Given the description of an element on the screen output the (x, y) to click on. 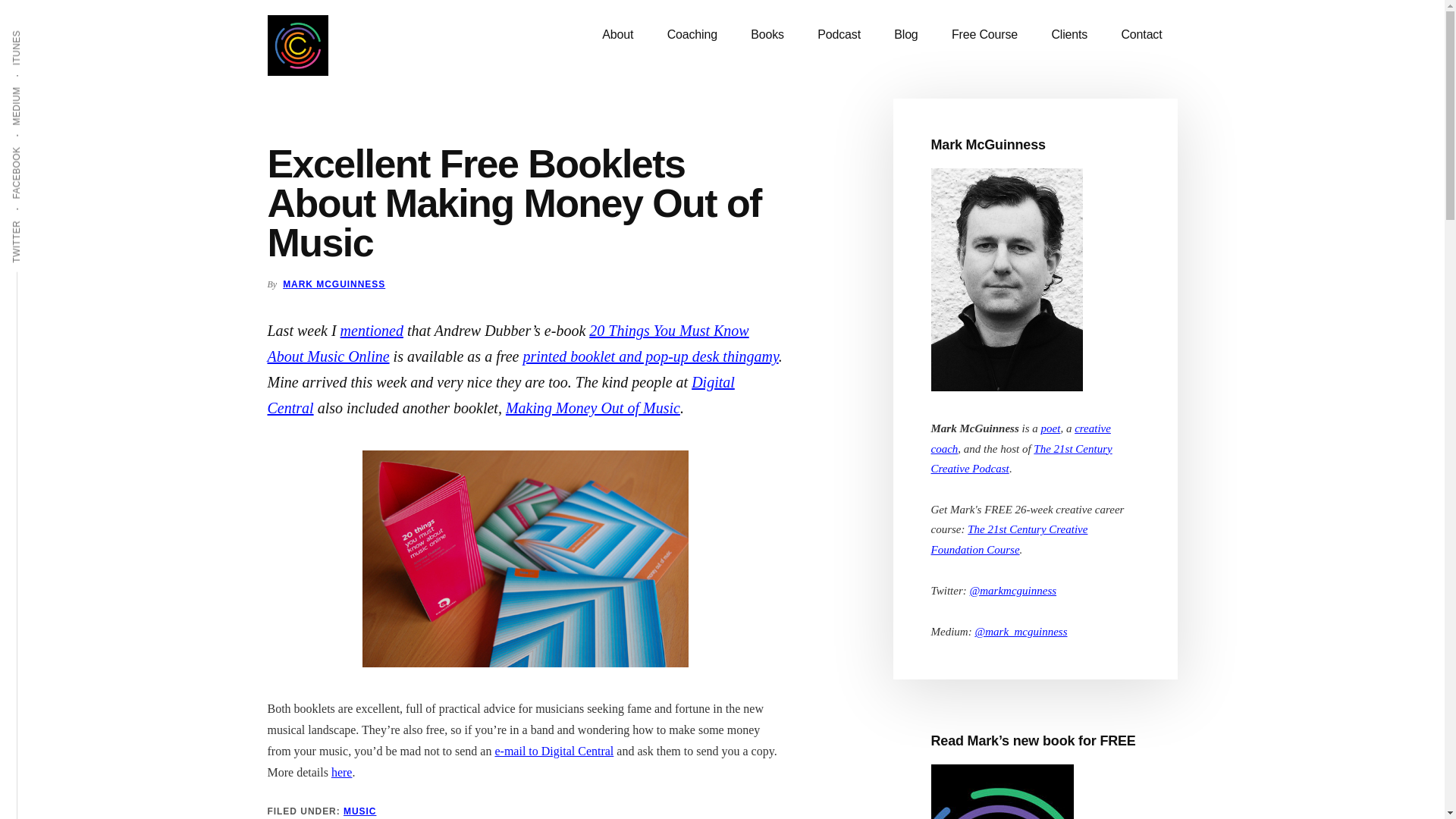
here (341, 771)
MARK MCGUINNESS (333, 284)
ITUNES (35, 28)
MUSIC (359, 810)
e-mail to Digital Central (553, 750)
Making Money Out of Music (592, 407)
Books (767, 34)
MEDIUM (36, 84)
Podcast (839, 34)
